Given the description of an element on the screen output the (x, y) to click on. 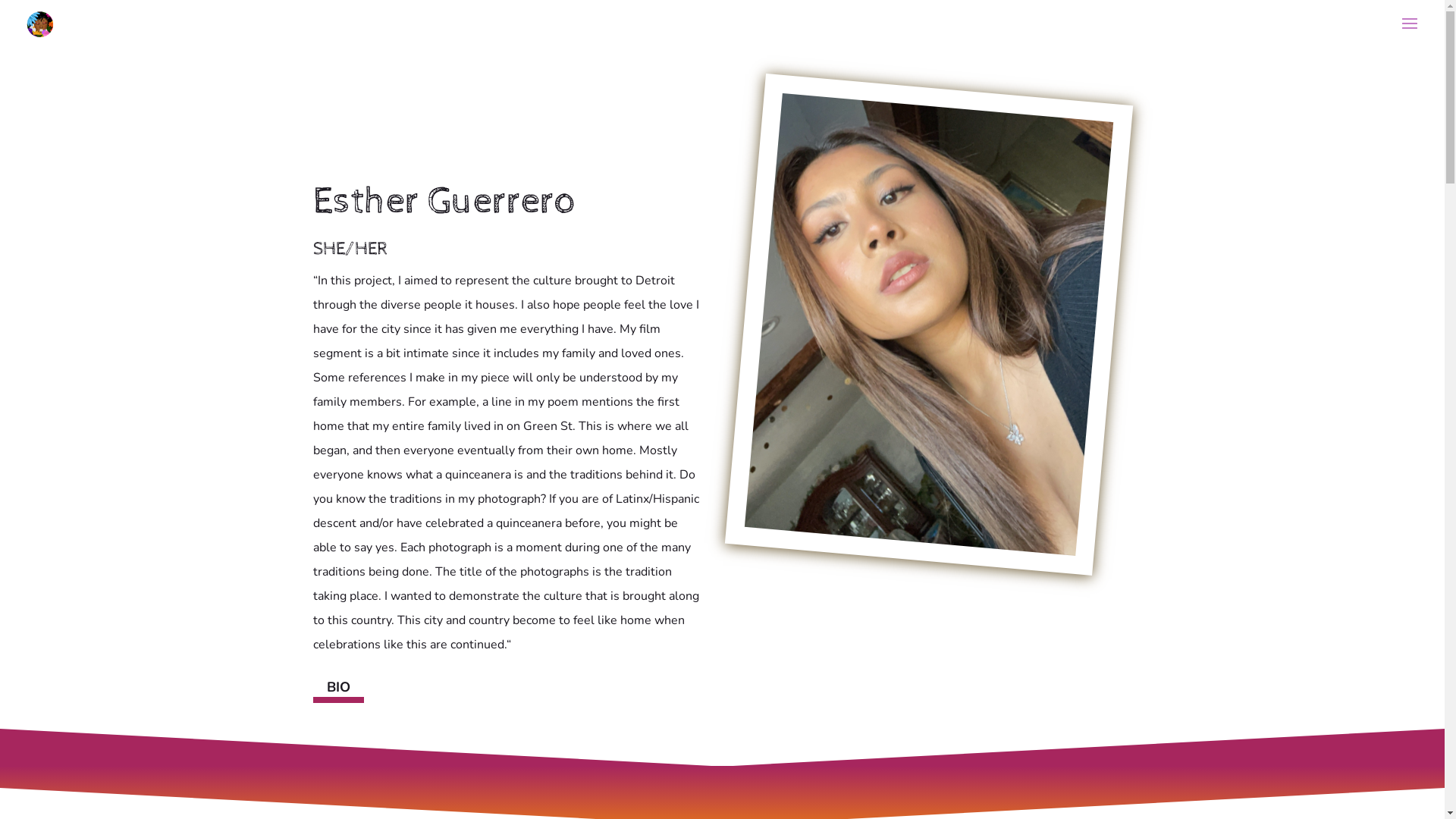
BIO Element type: text (337, 686)
EGuerrero Recent Pic Element type: hover (910, 310)
